Given the description of an element on the screen output the (x, y) to click on. 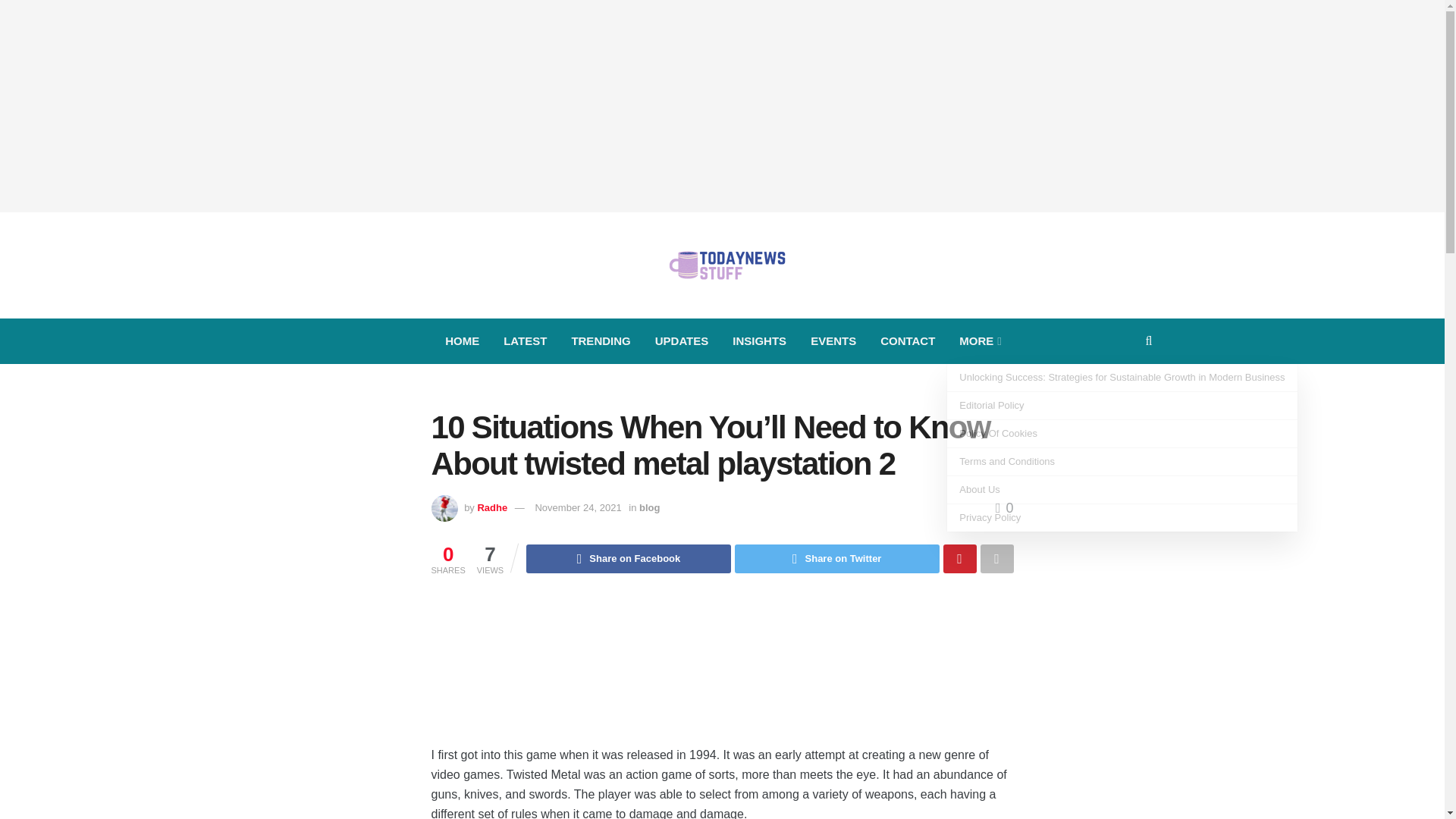
HOME (462, 340)
Advertisement (721, 672)
UPDATES (681, 340)
INSIGHTS (758, 340)
Terms and Conditions (1122, 461)
Radhe (491, 507)
LATEST (525, 340)
Policy Of Cookies (1122, 433)
